Given the description of an element on the screen output the (x, y) to click on. 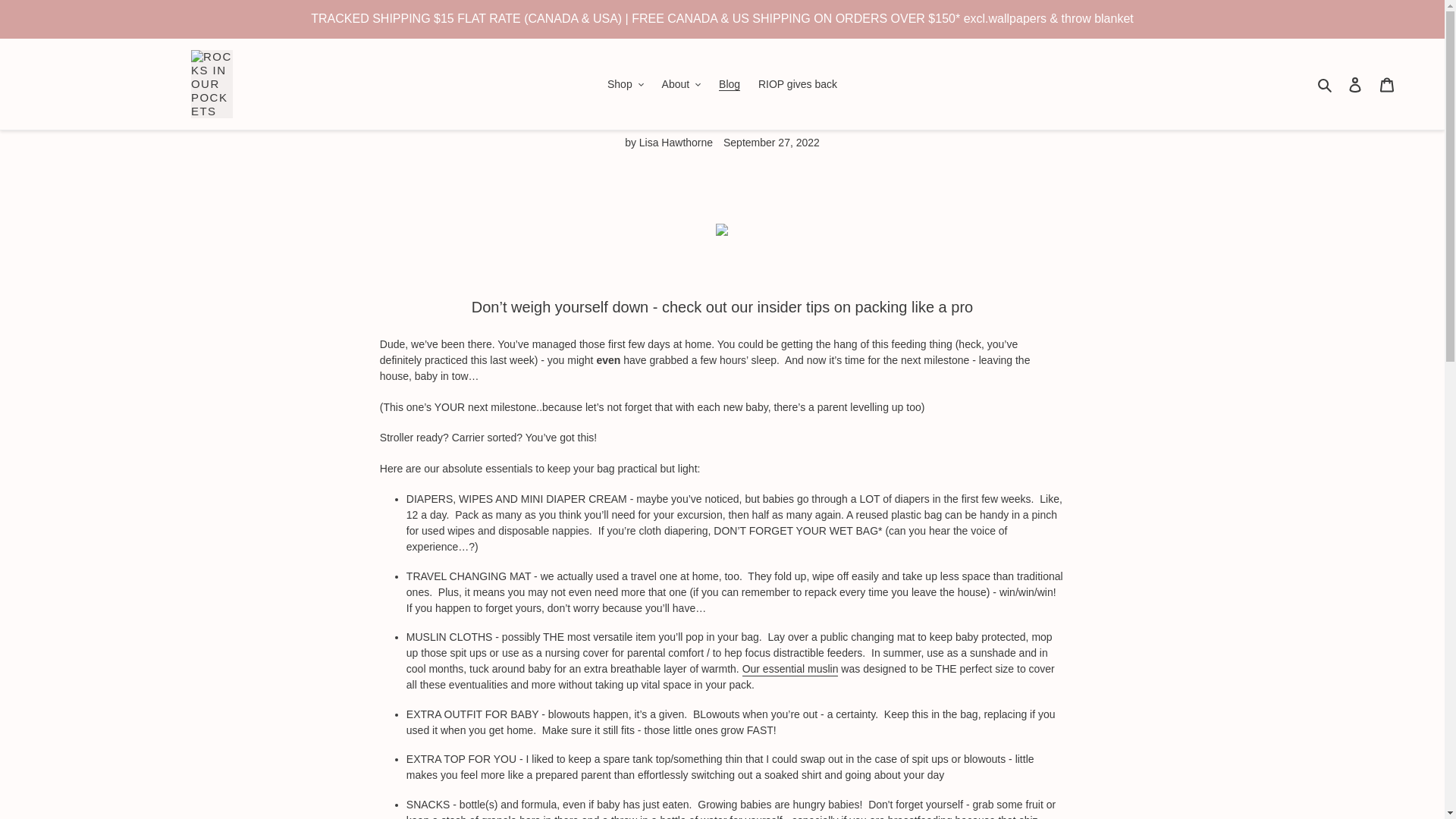
Cart (1387, 83)
Search (1326, 83)
Blog (729, 84)
RIOP gives back (797, 84)
Shop (624, 84)
About (681, 84)
Log in (1355, 83)
